Given the description of an element on the screen output the (x, y) to click on. 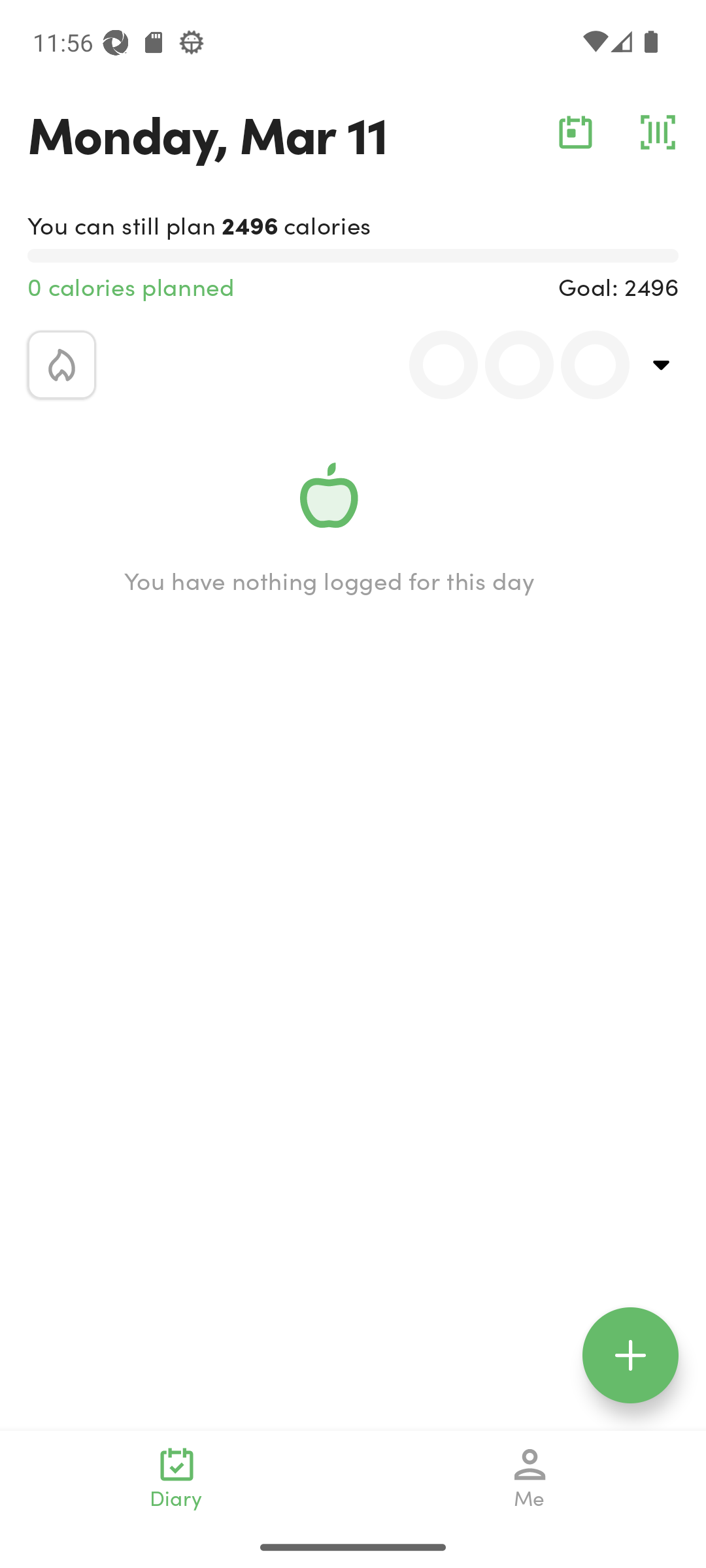
calendar_action (575, 132)
barcode_action (658, 132)
calorie_icon (62, 365)
0.0 0.0 0.0 (508, 365)
top_right_action (661, 365)
floating_action_icon (630, 1355)
Me navigation_icon (529, 1478)
